Given the description of an element on the screen output the (x, y) to click on. 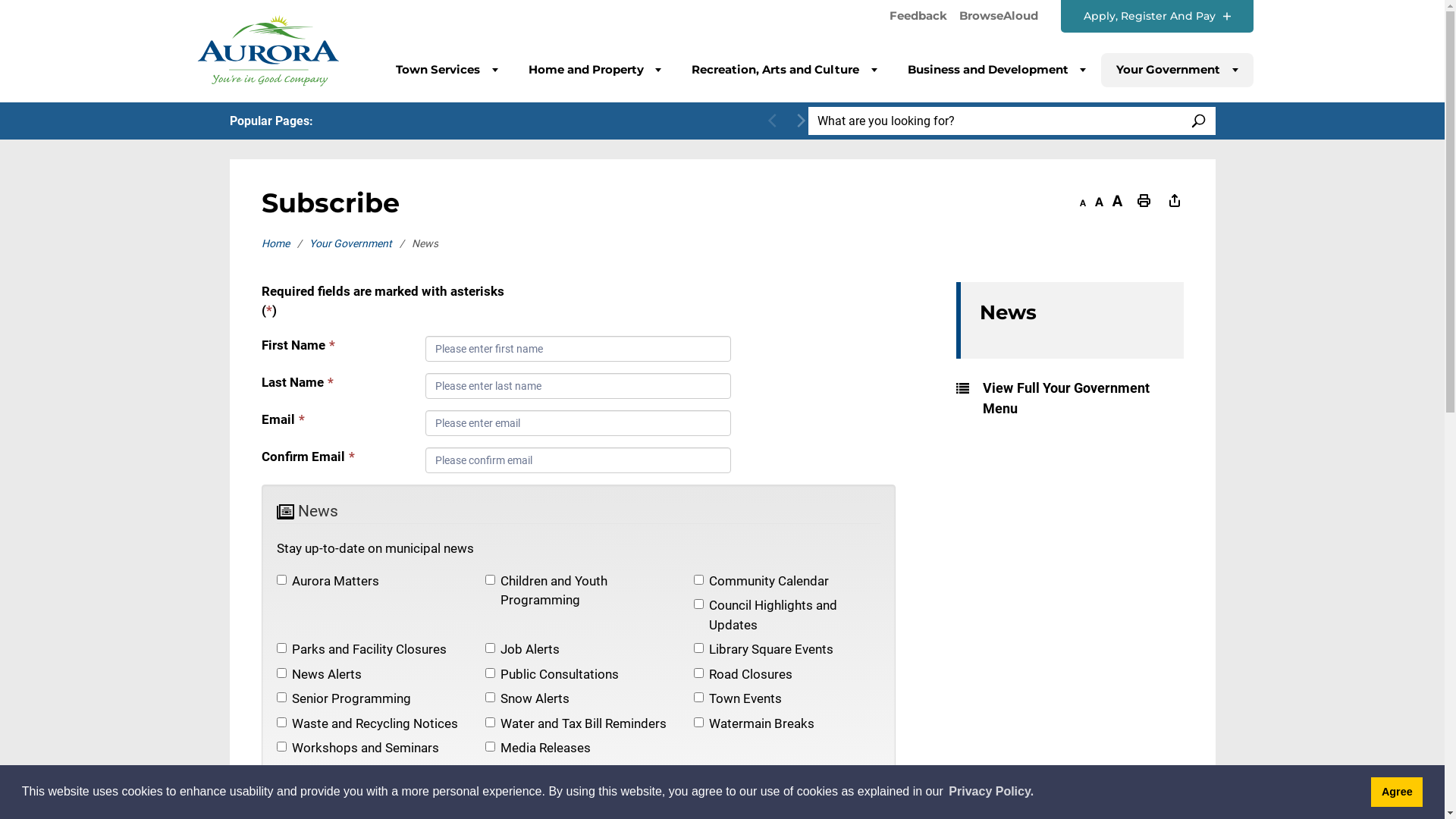
News Element type: text (1071, 320)
BrowseAloud Element type: text (997, 19)
Feedback Element type: text (917, 16)
Privacy Policy. Element type: text (990, 791)
Home Element type: text (284, 243)
Search Element type: text (1054, 210)
Enter search keywords Element type: hover (994, 120)
Default text size Element type: hover (1099, 201)
Decrease text size Element type: hover (1082, 201)
Business and Development Element type: text (996, 70)
Your Government Element type: text (1176, 70)
Recreation, Arts and Culture Element type: text (783, 70)
Agree Element type: text (1396, 791)
Your Government Element type: text (360, 243)
Town Services Element type: text (446, 70)
SEARCH Element type: text (1198, 120)
ViewFull Your Government Menu Element type: text (1069, 397)
Skip to Content Element type: text (0, 0)
Increase text size Element type: hover (1116, 201)
Apply, Register And Pay Element type: text (1156, 16)
Home and Property Element type: text (594, 70)
Print This Page Element type: hover (1143, 201)
